Given the description of an element on the screen output the (x, y) to click on. 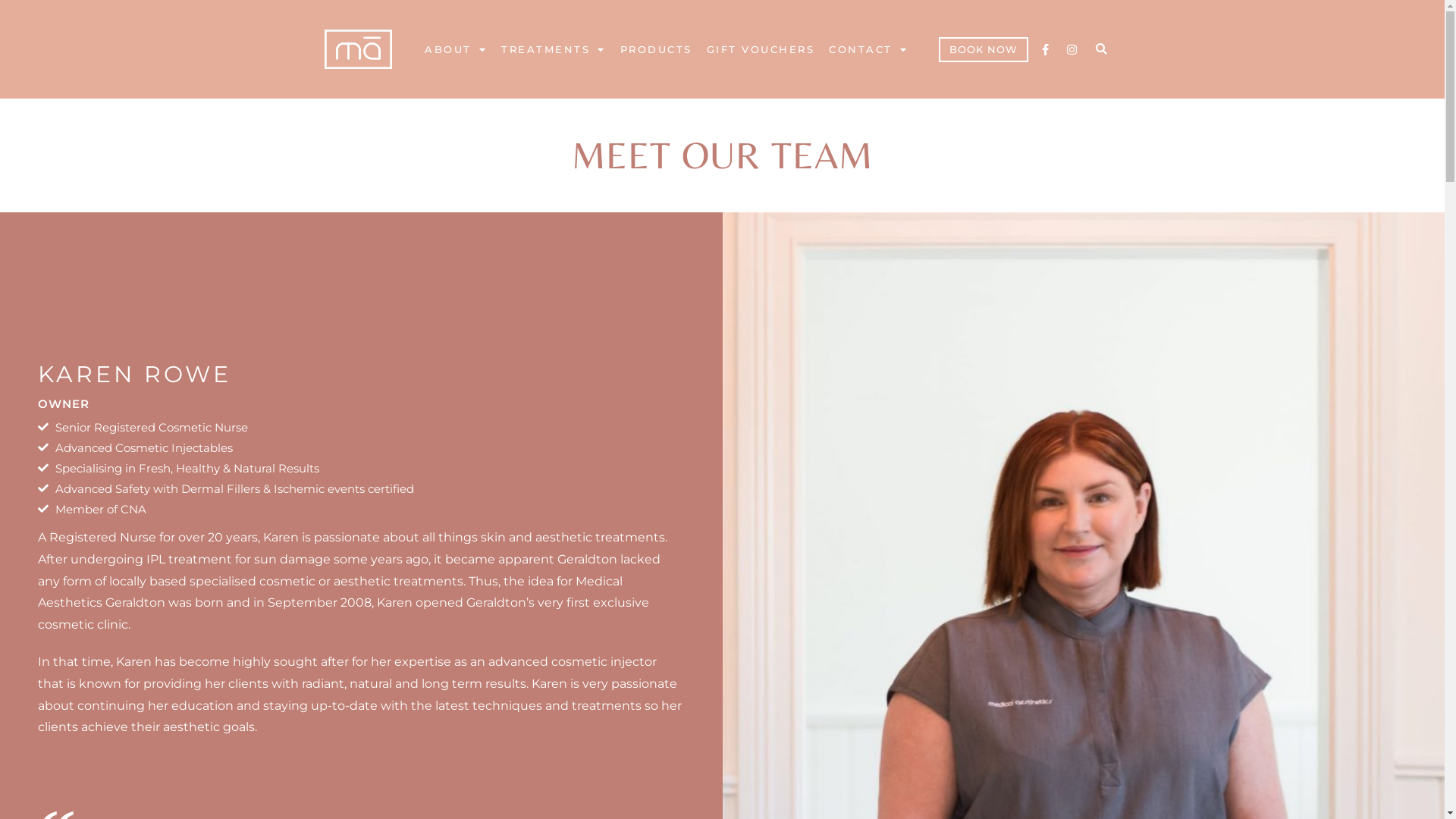
GIFT VOUCHERS Element type: text (760, 49)
TREATMENTS Element type: text (553, 49)
BOOK NOW Element type: text (983, 48)
PRODUCTS Element type: text (656, 49)
CONTACT Element type: text (867, 49)
ABOUT Element type: text (455, 49)
